Given the description of an element on the screen output the (x, y) to click on. 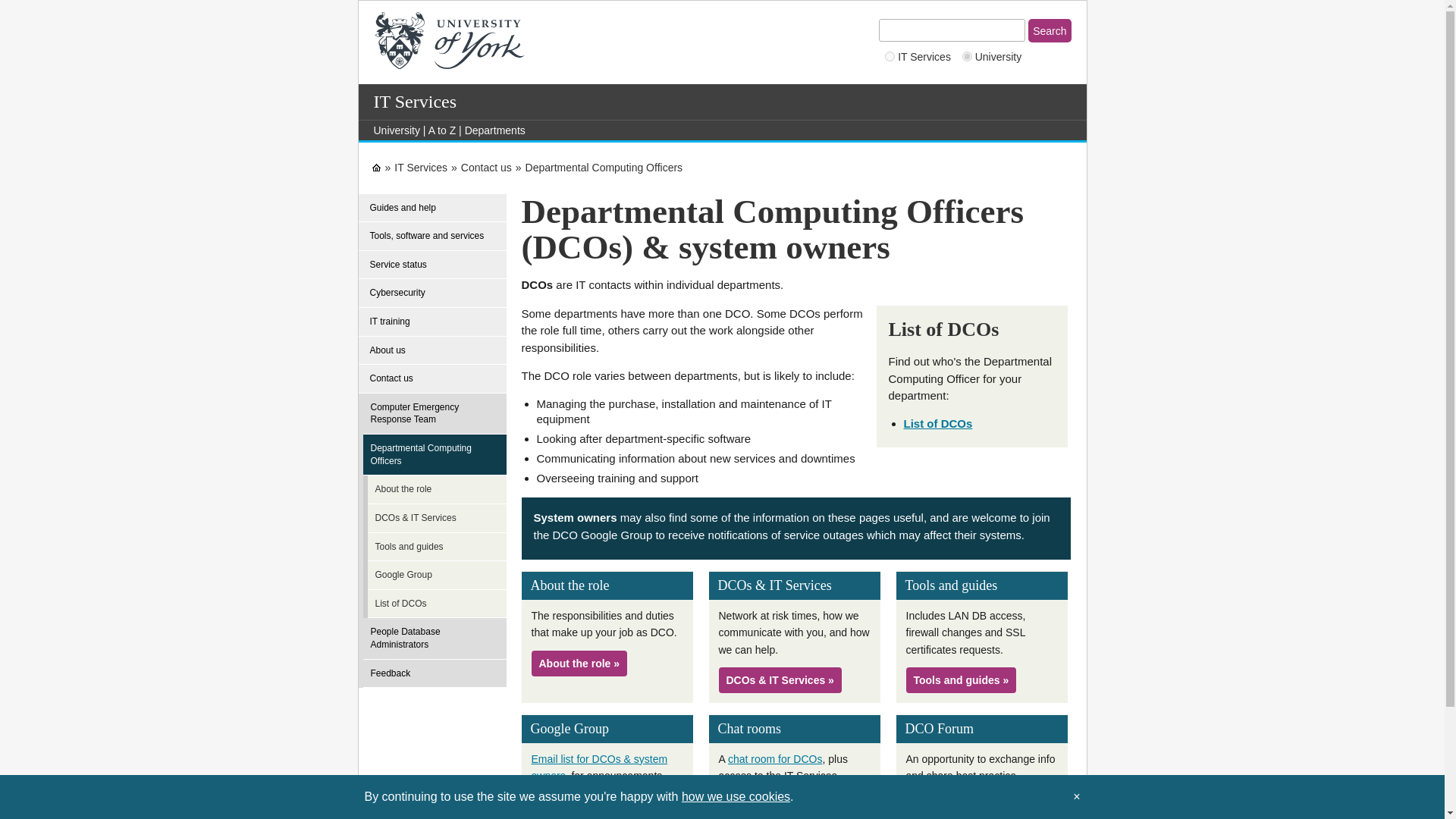
Search (1048, 30)
University homepage (395, 130)
University (395, 130)
Contact us (486, 167)
IT Services (420, 167)
List of DCOs (938, 422)
Tools and guides (440, 547)
Tools, software and services (432, 235)
People Database Administrators (436, 638)
Cybersecurity (432, 293)
